Given the description of an element on the screen output the (x, y) to click on. 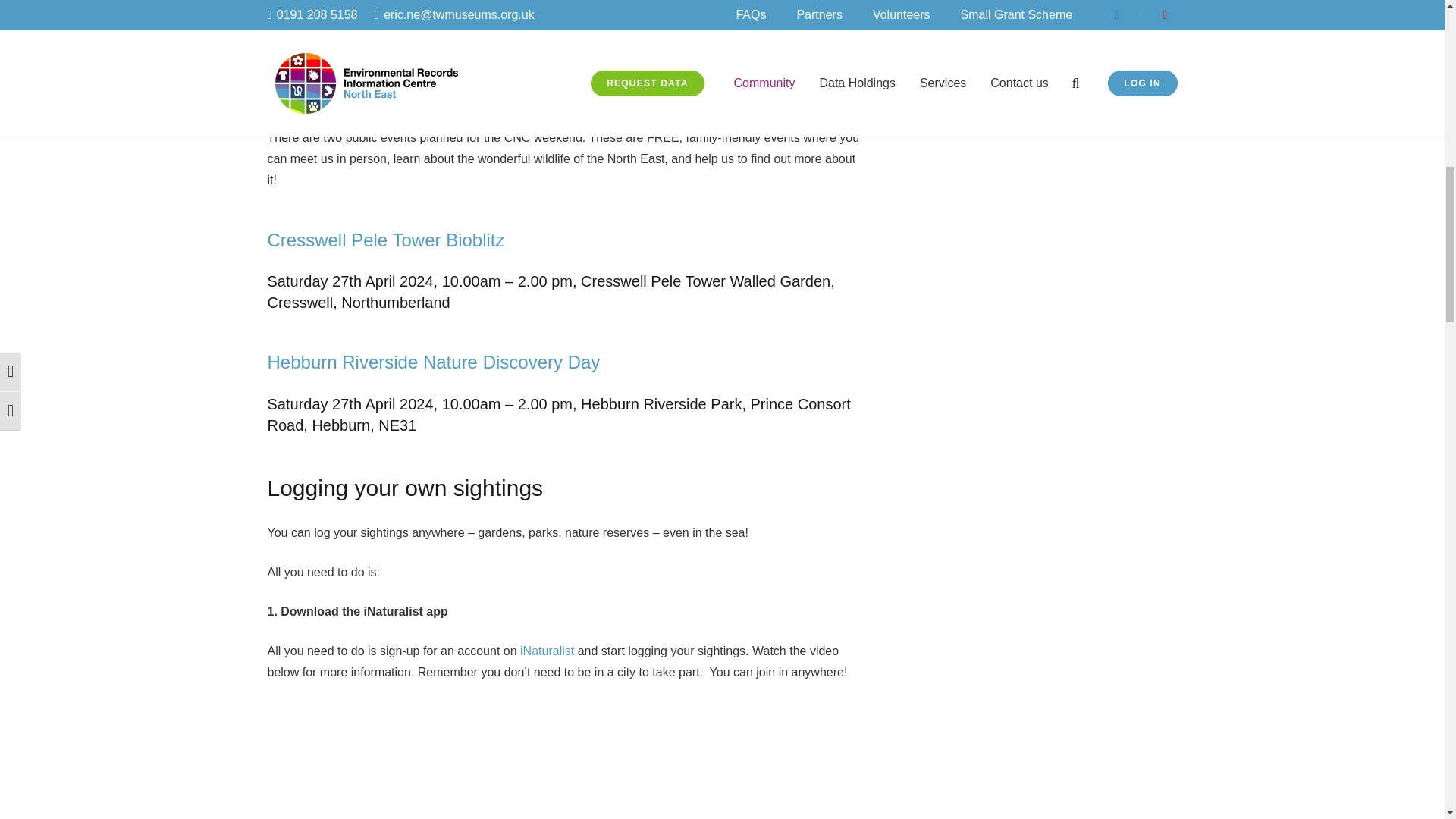
Hebburn Riverside Nature Discovery Day (432, 362)
Cresswell Pele Tower Bioblitz (384, 240)
Back to top (1413, 30)
iNaturalist (546, 650)
